Given the description of an element on the screen output the (x, y) to click on. 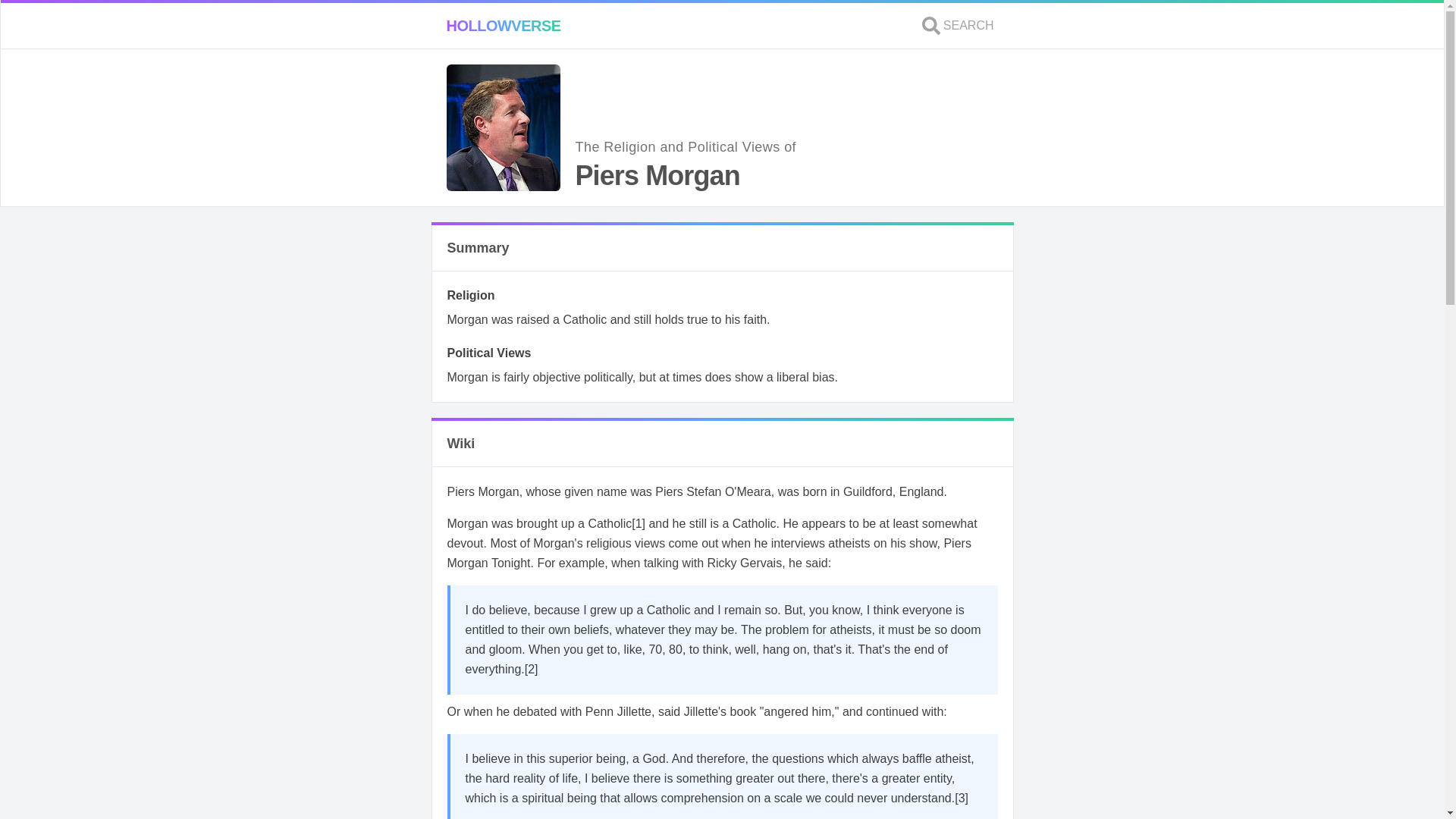
SEARCH (957, 25)
Piers Morgan: Why I had to tell my kids I did drugs (638, 522)
HOLLOWVERSE (502, 25)
